Given the description of an element on the screen output the (x, y) to click on. 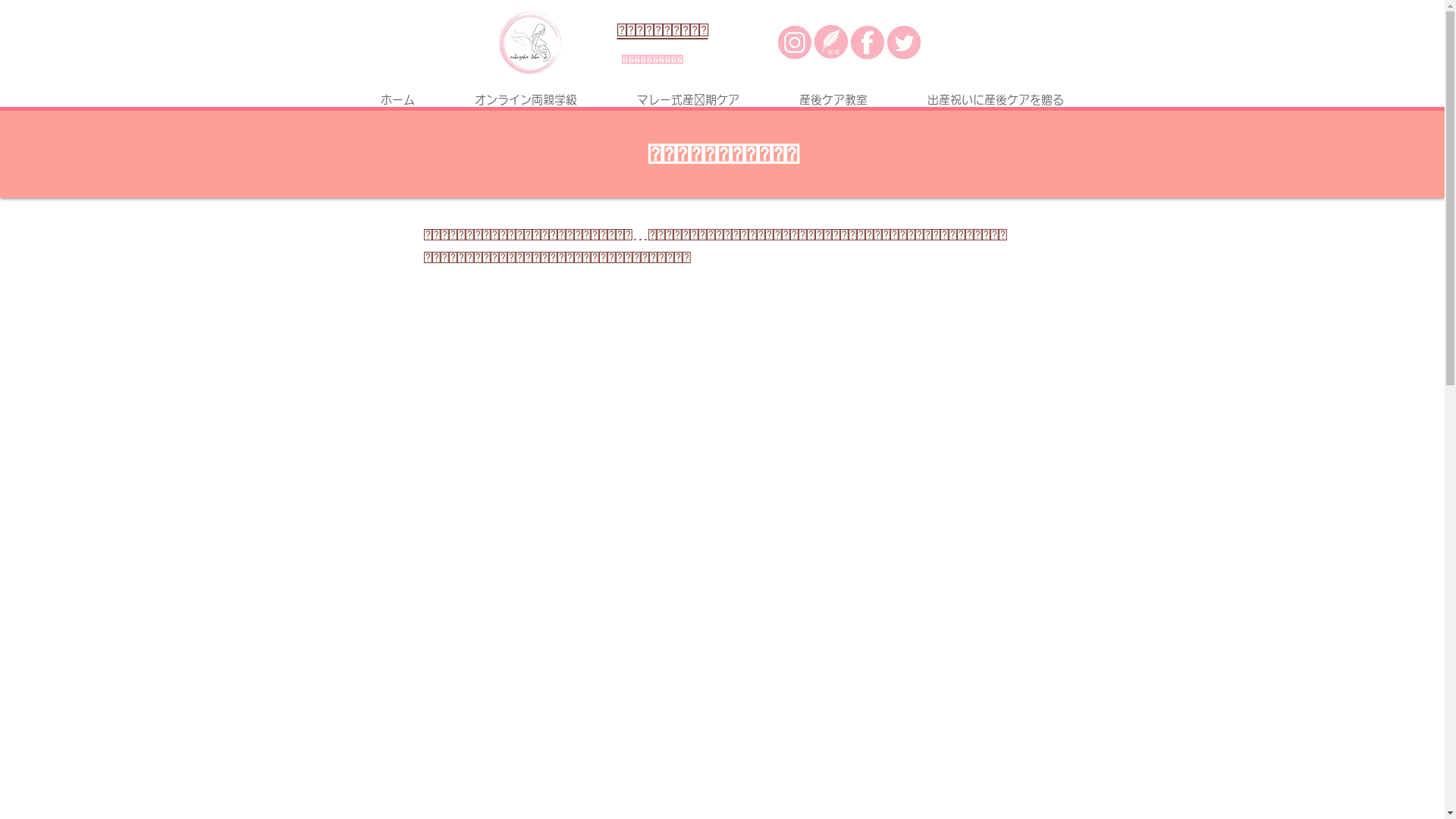
69017617_474134110050389_403290527081955 Element type: hover (529, 42)
